Given the description of an element on the screen output the (x, y) to click on. 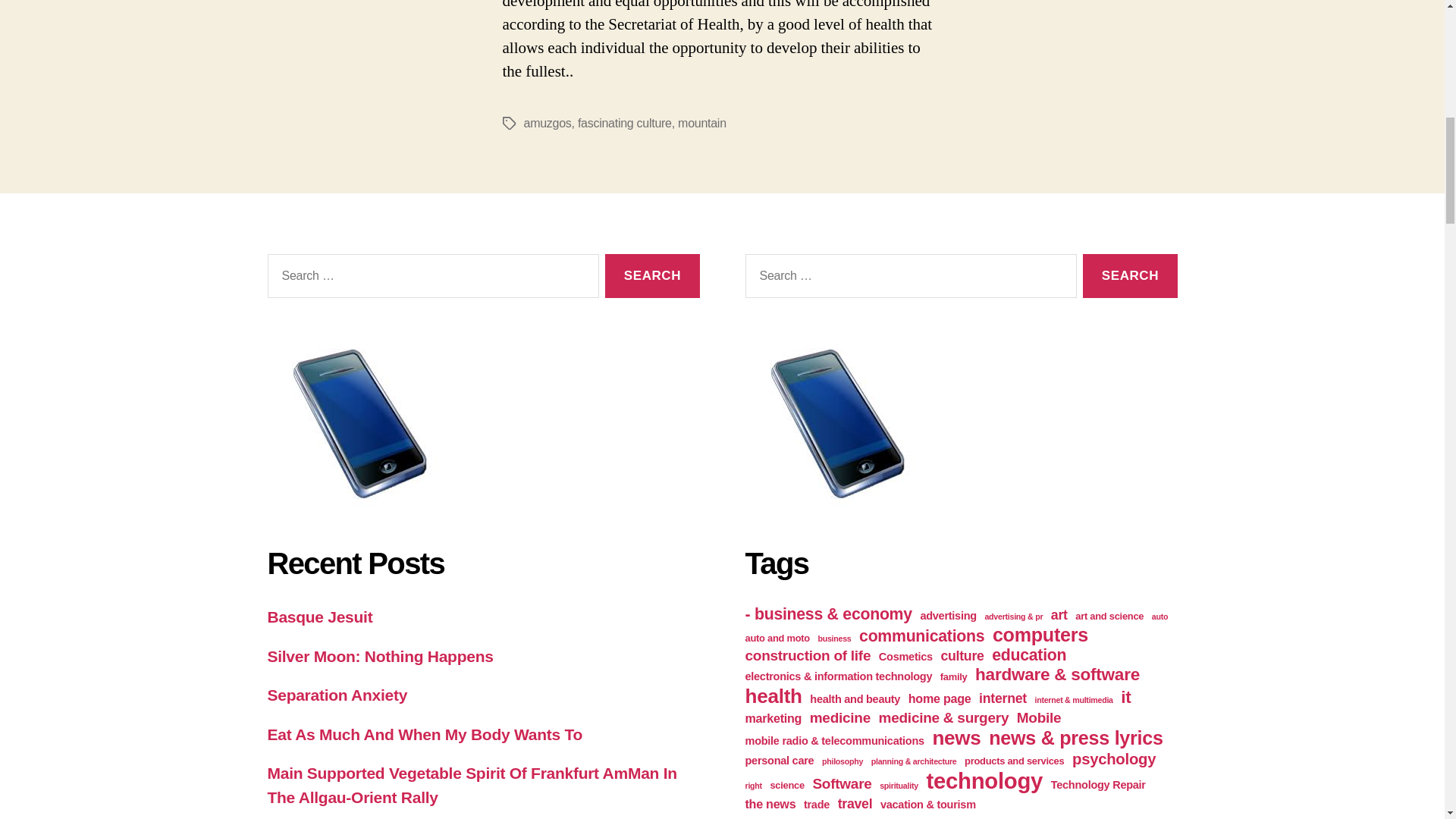
Basque Jesuit (319, 616)
Separation Anxiety (336, 694)
mountain (702, 123)
Eat As Much And When My Body Wants To (423, 733)
Search (1129, 275)
Silver Moon: Nothing Happens (379, 656)
Search (651, 275)
amuzgos (546, 123)
Search (1129, 275)
Search (651, 275)
fascinating culture (624, 123)
Search (651, 275)
